Given the description of an element on the screen output the (x, y) to click on. 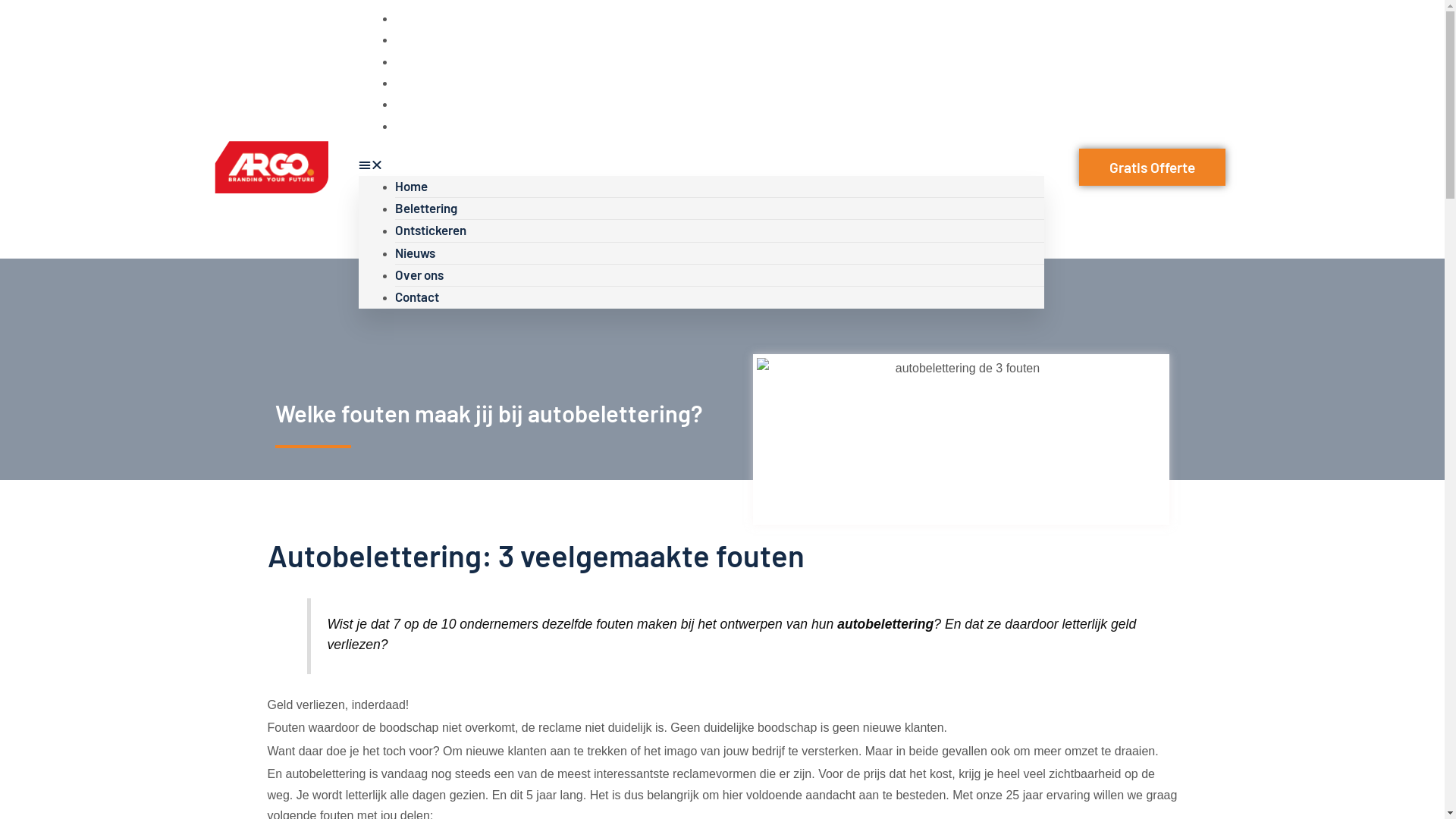
Contact Element type: text (416, 124)
Over ons Element type: text (418, 274)
Nieuws Element type: text (414, 81)
Nieuws Element type: text (414, 252)
Belettering Element type: text (425, 38)
Gratis Offerte Element type: text (1152, 166)
Ontstickeren Element type: text (429, 60)
Over ons Element type: text (418, 102)
Belettering Element type: text (425, 207)
Home Element type: text (410, 17)
Home Element type: text (410, 185)
Ontstickeren Element type: text (429, 229)
Contact Element type: text (416, 296)
